Given the description of an element on the screen output the (x, y) to click on. 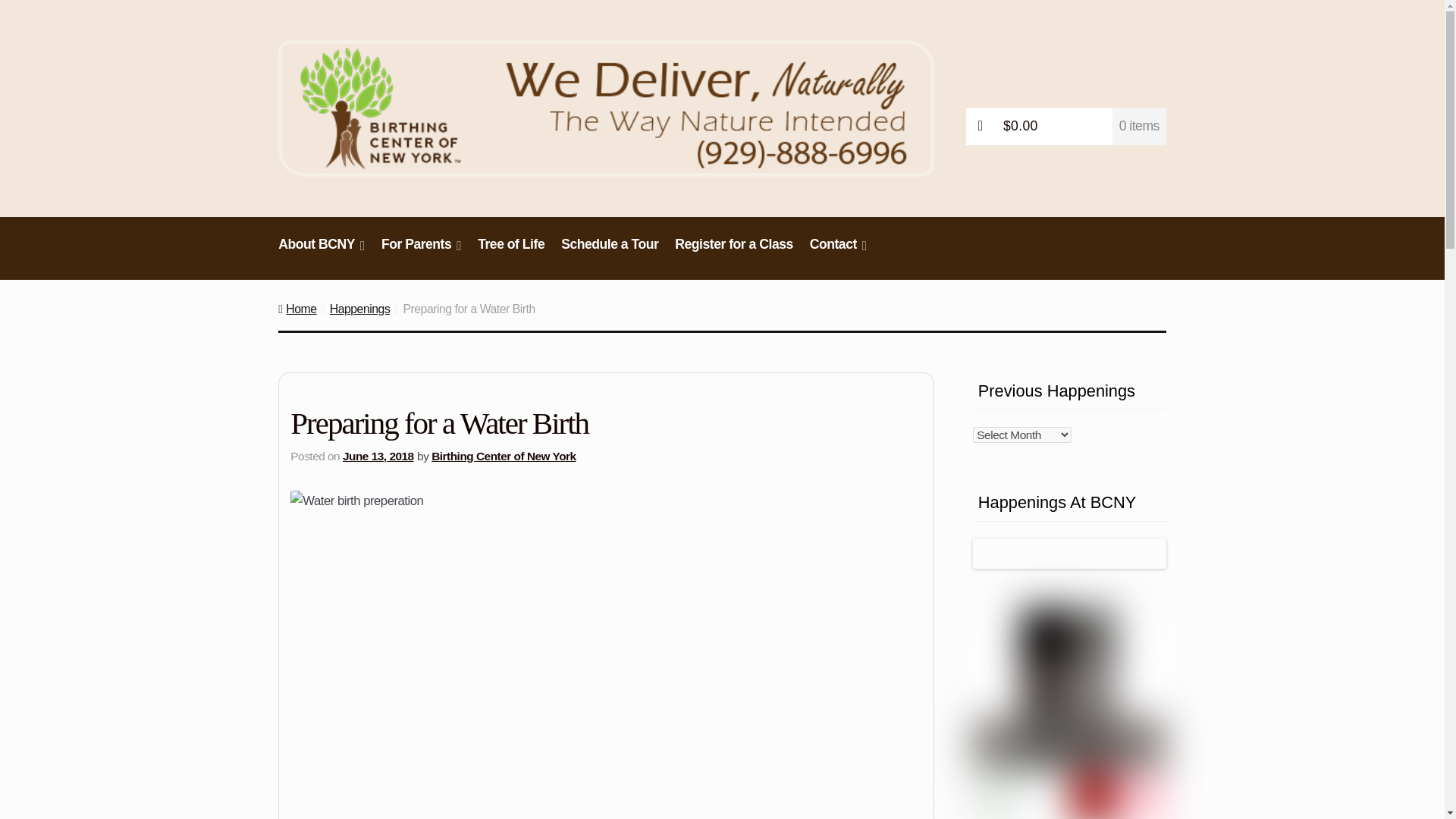
About BCNY (321, 252)
View your shopping cart (1066, 126)
Contact (838, 252)
For Parents (420, 252)
Schedule a Tour (609, 252)
Register for a Class (733, 252)
Tree of Life (510, 252)
